Given the description of an element on the screen output the (x, y) to click on. 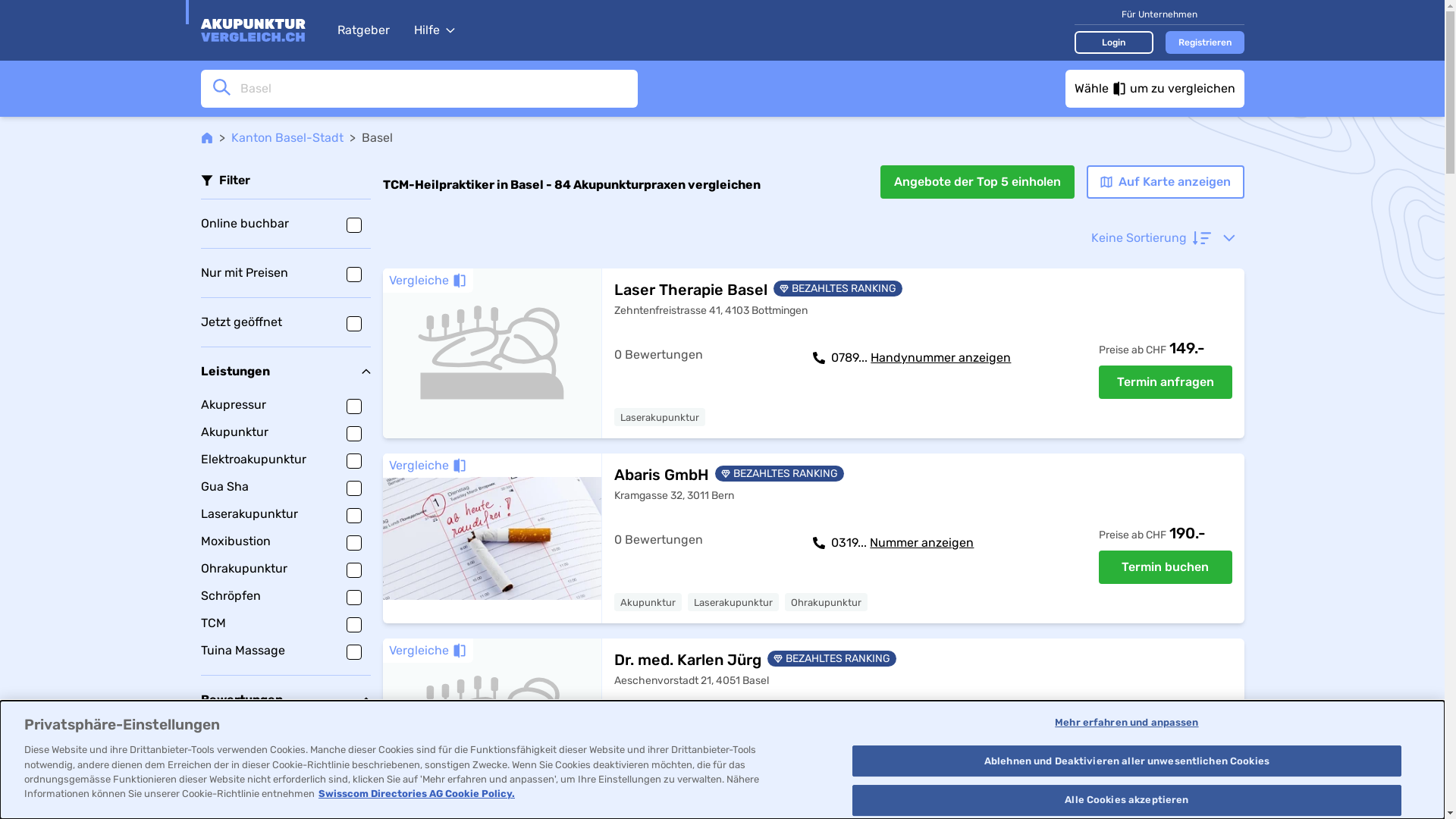
Zur Startseite Element type: hover (260, 30)
Nur mit Preisen Element type: text (285, 272)
Mehr erfahren und anpassen Element type: text (1126, 722)
Auf Karte anzeigen Element type: text (1164, 181)
Ablehnen und Deaktivieren aller unwesentlichen Cookies Element type: text (1126, 761)
Vergleiche Element type: text (427, 280)
Vergleiche Element type: text (427, 465)
Termin anfragen Element type: text (1164, 381)
Keine Sortierung Element type: text (1162, 237)
Termin anfragen Element type: text (1164, 751)
Angebote der Top 5 einholen Element type: text (976, 181)
Termin buchen Element type: text (1164, 566)
Kanton Basel-Stadt Element type: text (286, 137)
Vergleiche Element type: text (427, 650)
Ratgeber Element type: text (362, 30)
Registrieren Element type: text (1203, 41)
Online buchbar Element type: text (285, 223)
Hilfe Element type: text (434, 30)
Alle Cookies akzeptieren Element type: text (1126, 799)
Swisscom Directories AG Cookie Policy. Element type: text (416, 793)
Login Element type: text (1112, 41)
